Given the description of an element on the screen output the (x, y) to click on. 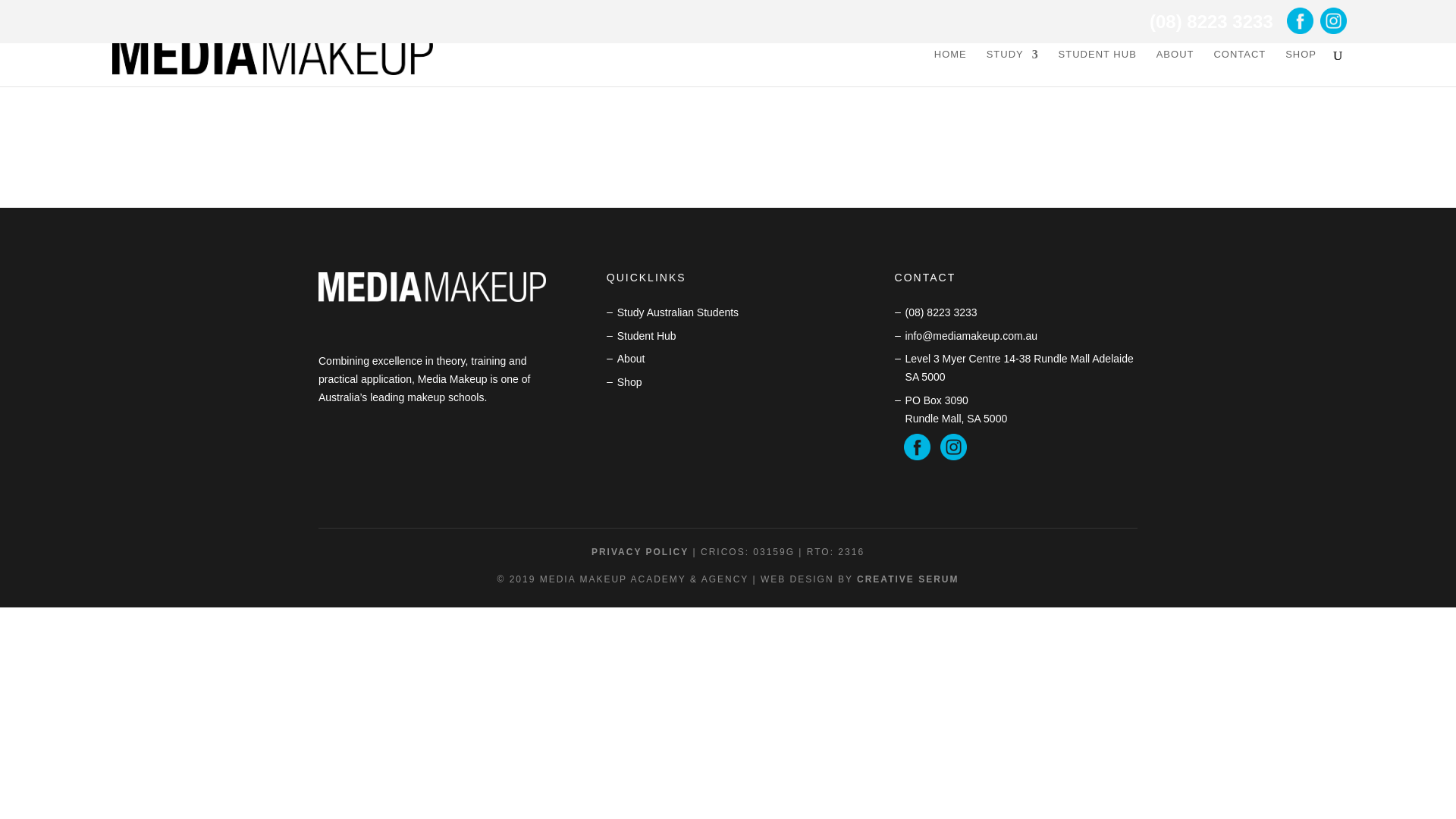
CONTACT (1238, 67)
STUDENT HUB (1097, 67)
Shop (629, 381)
Study Australian Students (677, 312)
ABOUT (1174, 67)
STUDY (1013, 67)
Student Hub (647, 336)
CREATIVE SERUM (907, 579)
PRIVACY POLICY (639, 552)
About (631, 358)
